Given the description of an element on the screen output the (x, y) to click on. 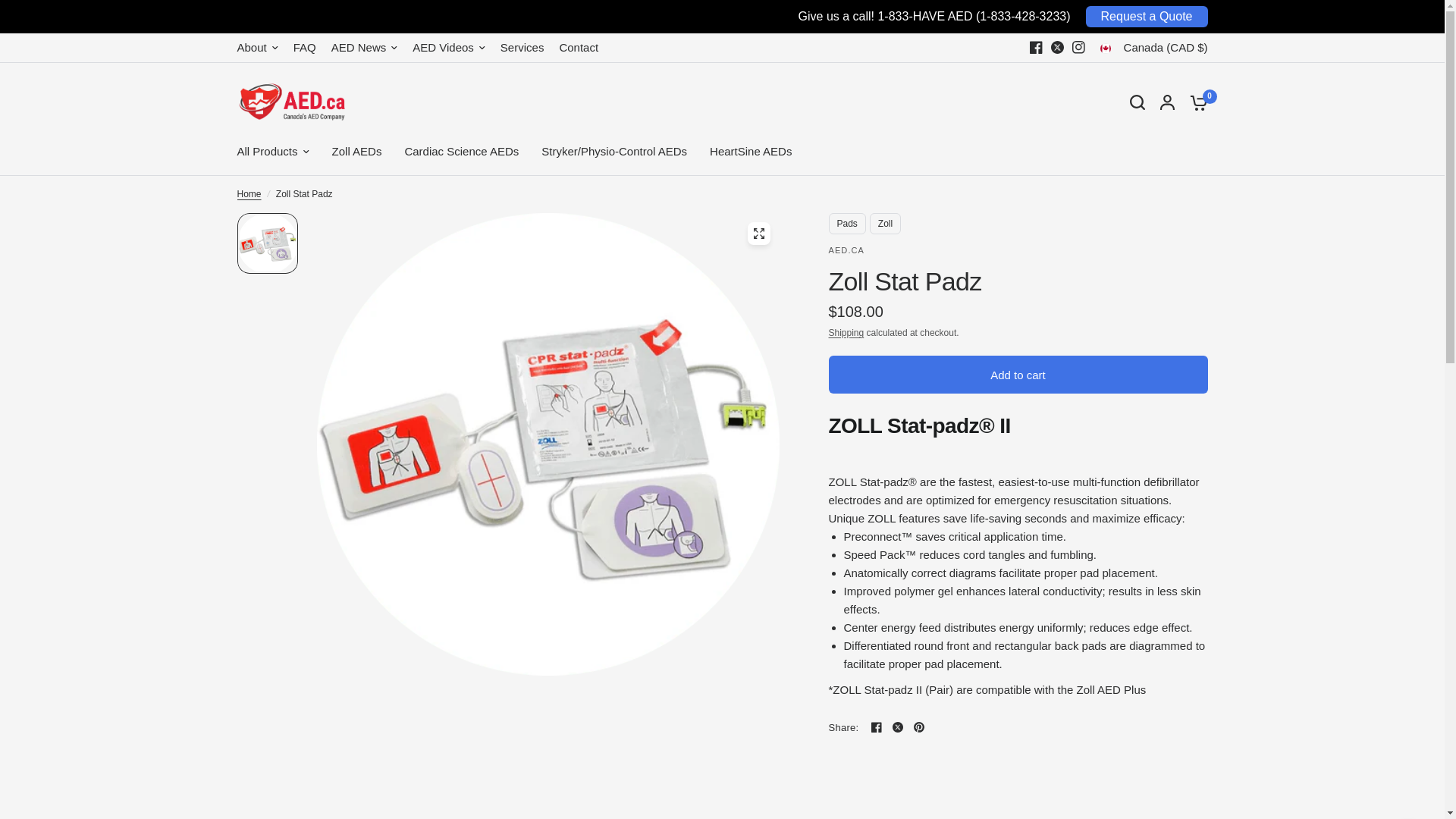
AED Videos (448, 47)
AED News (364, 47)
FAQ (304, 47)
Request a Quote (1147, 16)
Instagram (1078, 46)
Services (522, 47)
AED Videos (448, 47)
AED News (364, 47)
X (1056, 46)
Services (522, 47)
About (256, 47)
Contact (578, 47)
Facebook (1035, 46)
Contact (578, 47)
FAQ (304, 47)
